Given the description of an element on the screen output the (x, y) to click on. 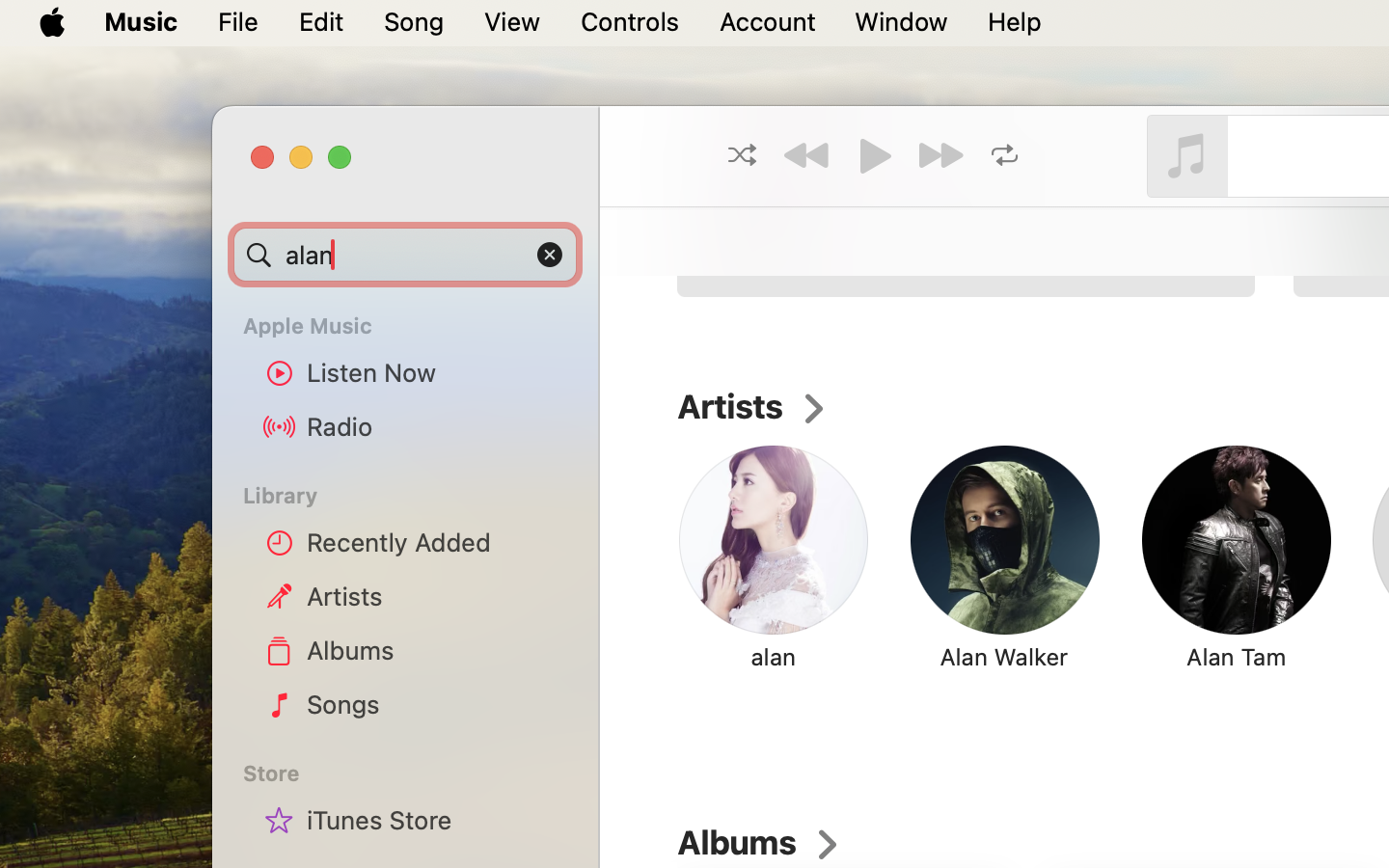
iTunes Store Element type: AXStaticText (434, 819)
Albums Element type: AXStaticText (434, 649)
Alan Walker Element type: AXStaticText (1003, 656)
Apple Music Element type: AXStaticText (416, 325)
Library Element type: AXStaticText (404, 495)
